Given the description of an element on the screen output the (x, y) to click on. 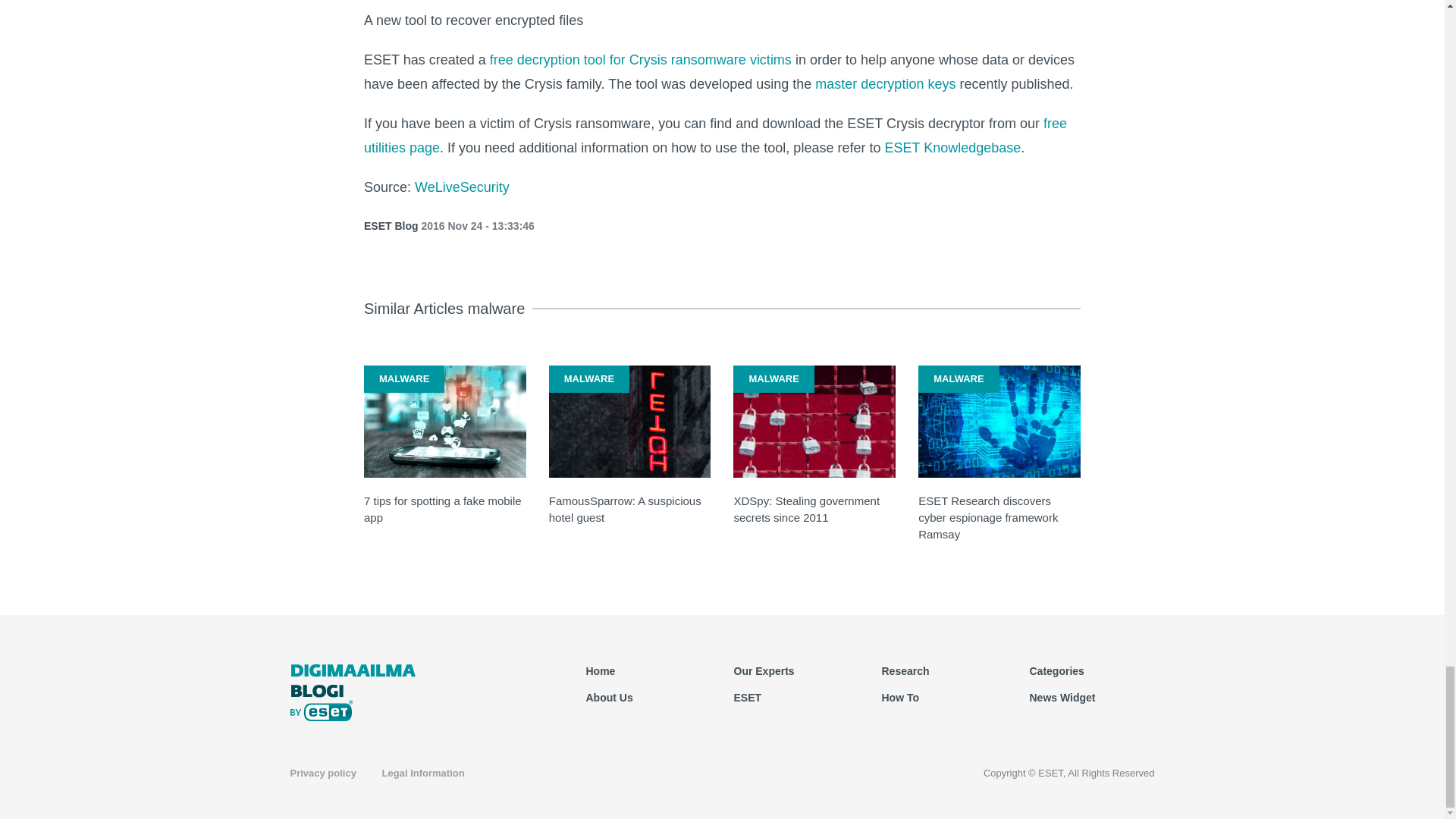
MALWARE (404, 379)
ESET Knowledgebase (951, 147)
free decryption tool for Crysis ransomware victims (640, 59)
WeLiveSecurity (461, 186)
ESET Blog (391, 225)
Posts by ESET Blog (391, 225)
master decryption keys (885, 83)
free utilities page (715, 135)
